Given the description of an element on the screen output the (x, y) to click on. 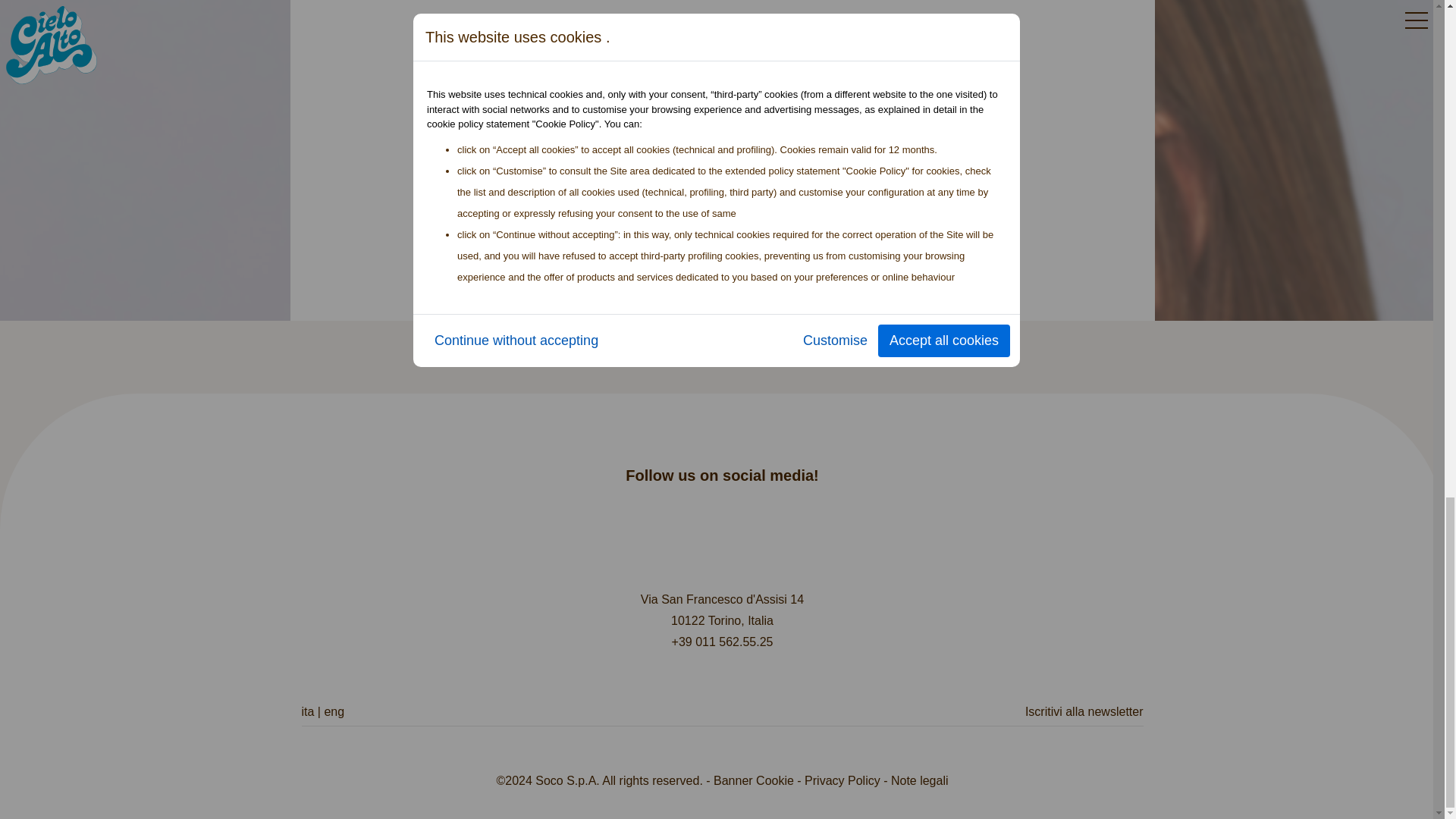
ita (307, 711)
